Given the description of an element on the screen output the (x, y) to click on. 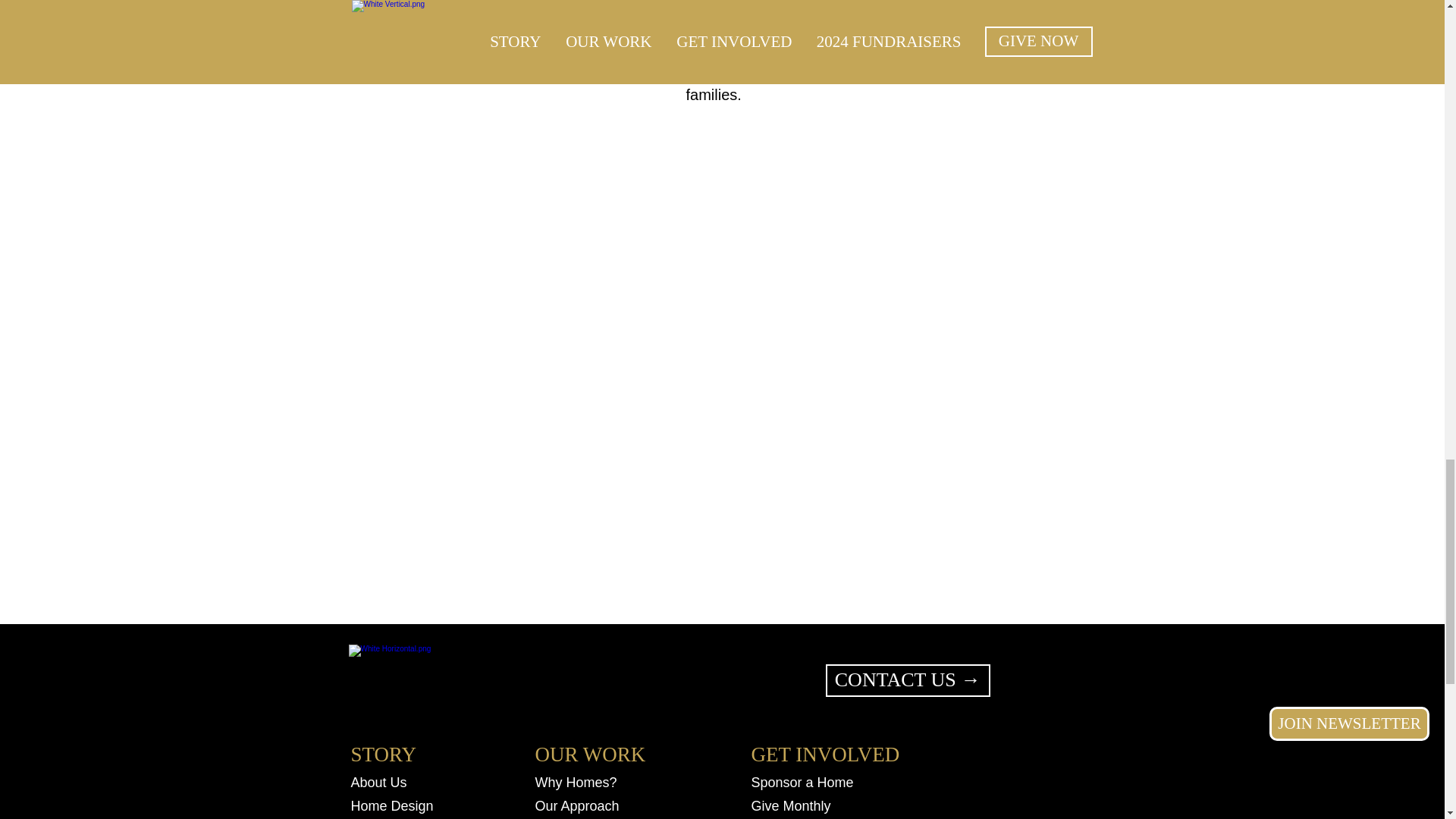
Why Homes? (576, 782)
About Us (386, 782)
Home Design (393, 806)
Sponsor a Home (807, 782)
Our Approach (587, 806)
Give Monthly (807, 806)
Start a Campaign (804, 818)
